Given the description of an element on the screen output the (x, y) to click on. 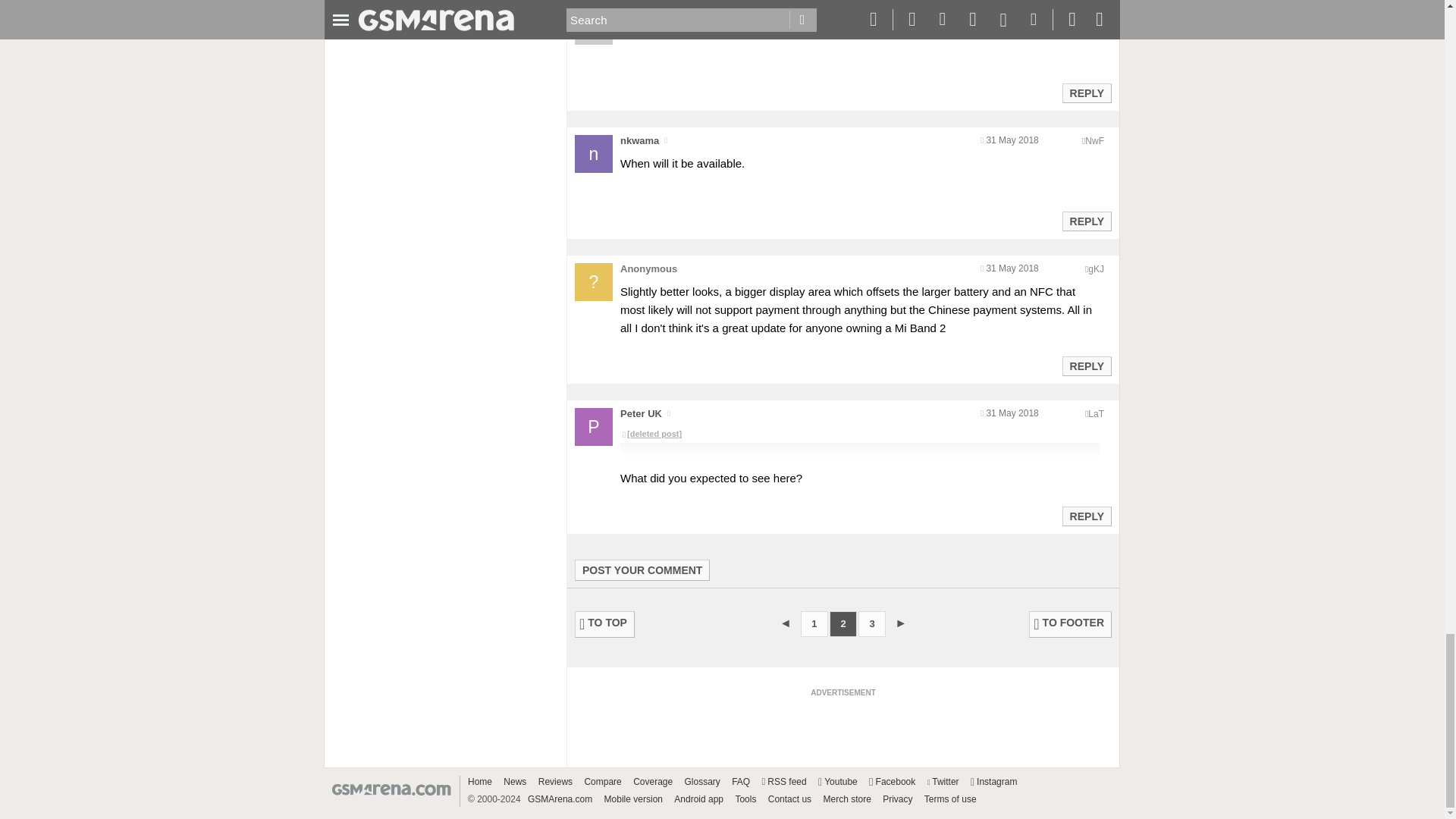
TO TOP (604, 624)
